Given the description of an element on the screen output the (x, y) to click on. 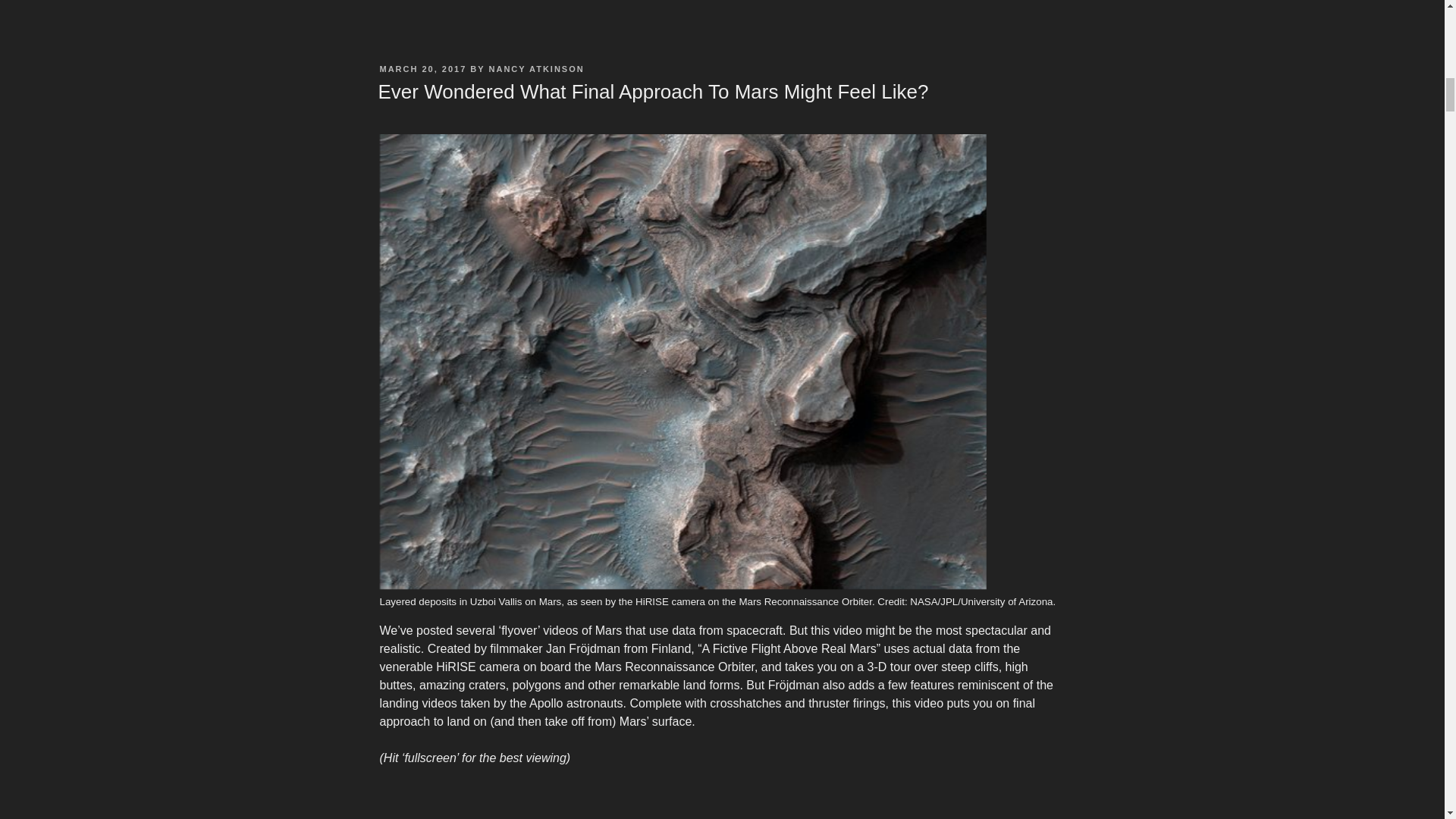
Ever Wondered What Final Approach To Mars Might Feel Like? (652, 91)
MARCH 20, 2017 (421, 68)
NANCY ATKINSON (537, 68)
